Given the description of an element on the screen output the (x, y) to click on. 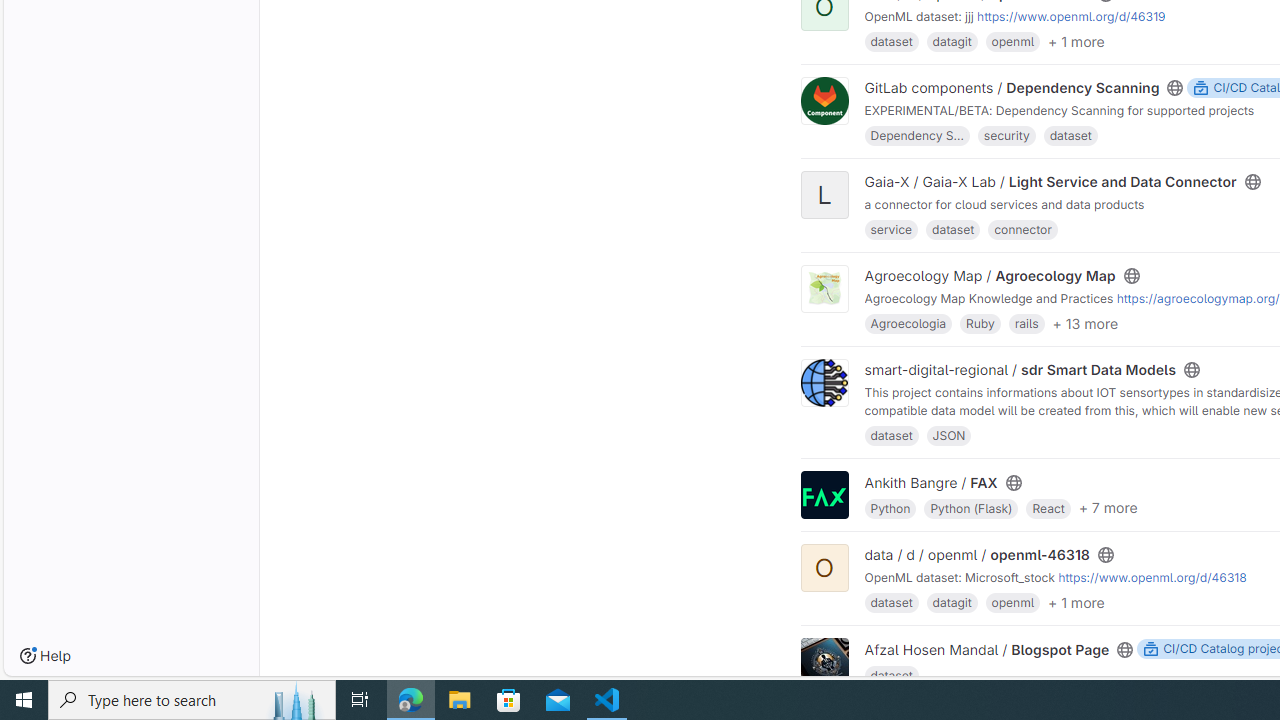
JSON (948, 434)
Agroecology Map / Agroecology Map (990, 276)
smart-digital-regional / sdr Smart Data Models (1020, 369)
service (891, 228)
connector (1023, 228)
L (824, 195)
React (1048, 506)
Class: project (824, 661)
data / d / openml / openml-46318 (977, 554)
+ 1 more (1076, 601)
openml (1012, 601)
https://agroecologymap.org/ (1198, 298)
Afzal Hosen Mandal / Blogspot Page (986, 649)
rails (1026, 323)
dataset (891, 673)
